Given the description of an element on the screen output the (x, y) to click on. 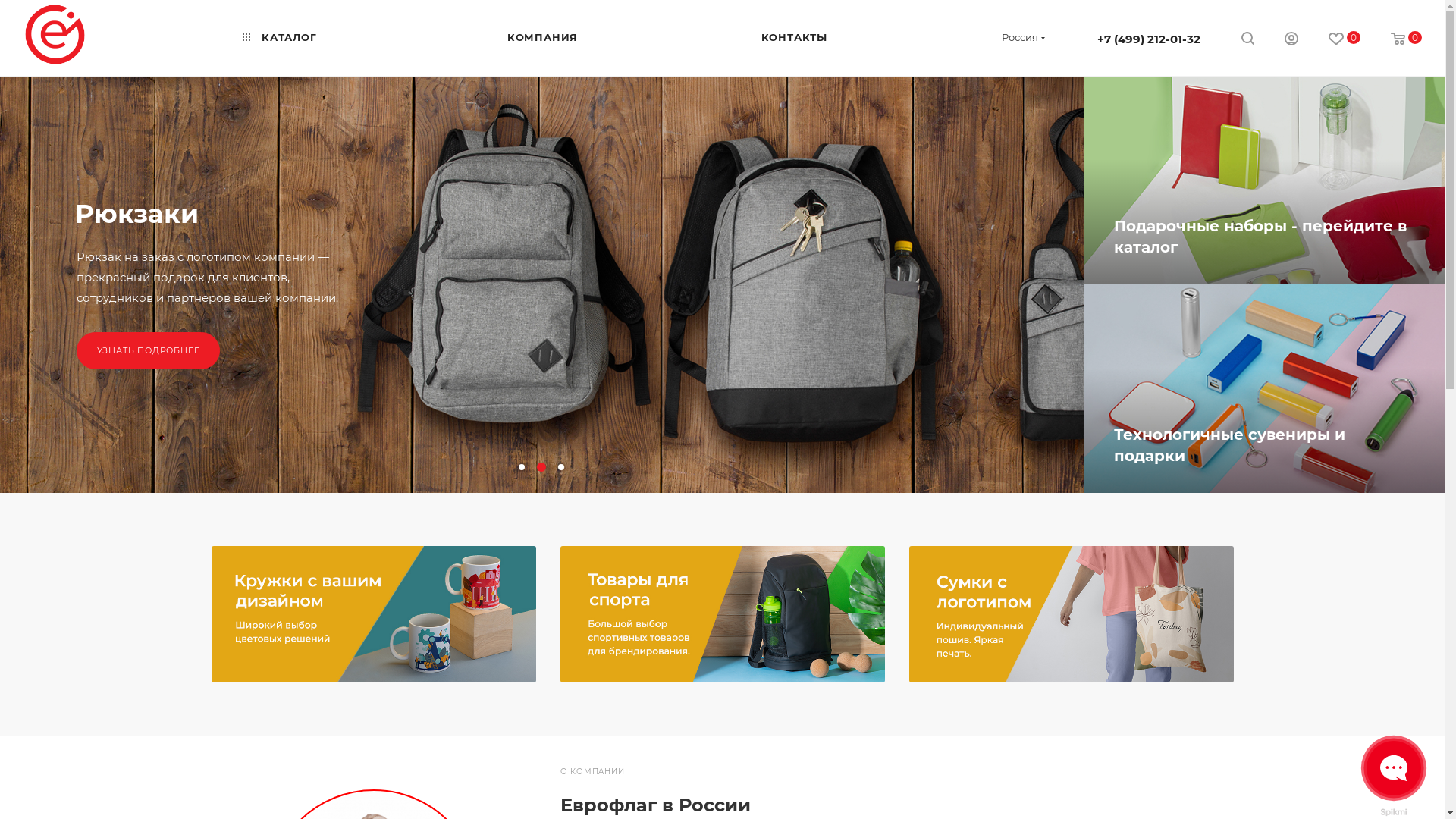
0 Element type: text (1344, 39)
+7 (499) 212-01-32 Element type: text (1148, 38)
e-gifts24.ru Element type: hover (54, 34)
0 Element type: text (1406, 39)
